Given the description of an element on the screen output the (x, y) to click on. 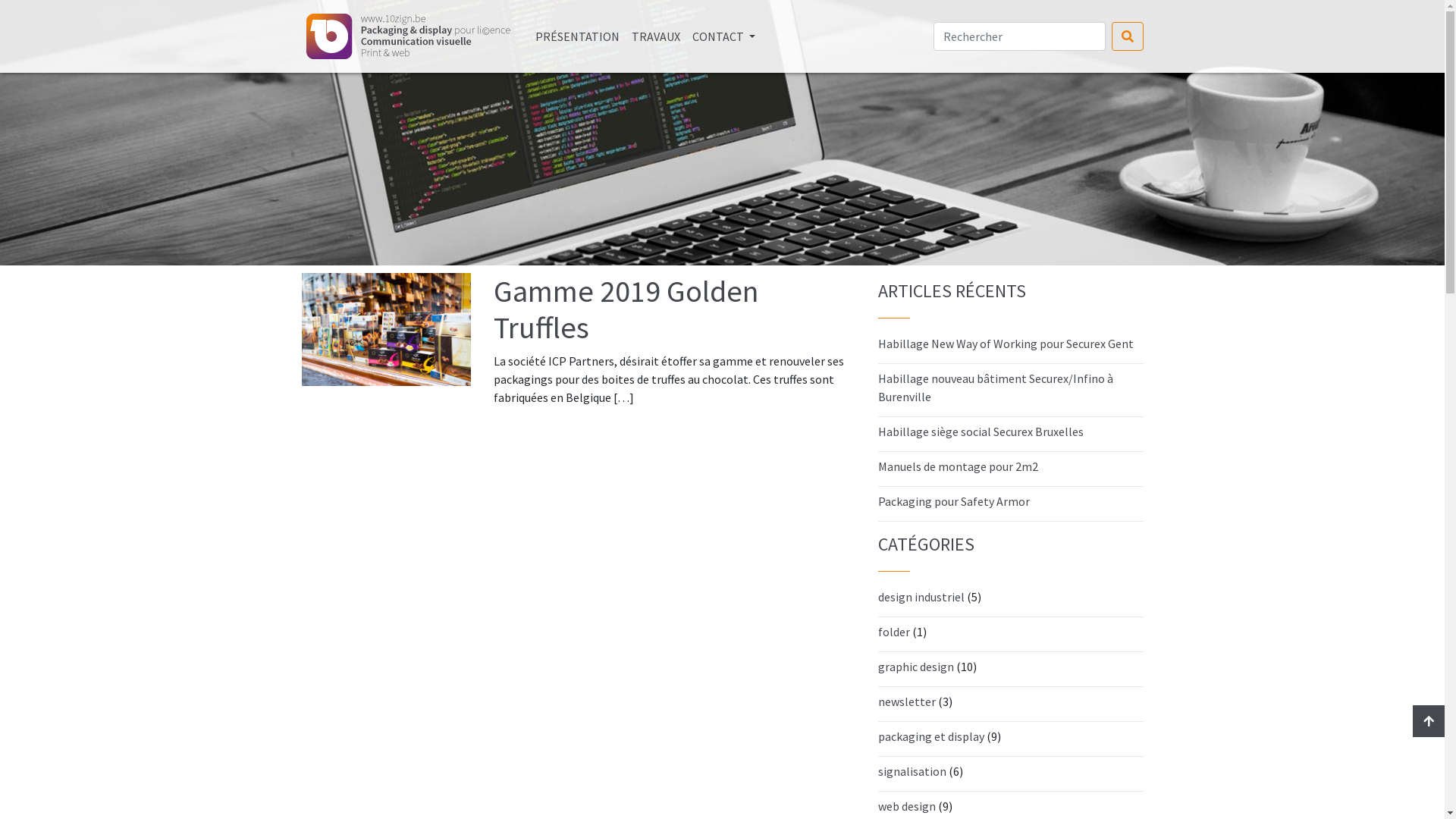
Habillage New Way of Working pour Securex Gent Element type: text (1005, 343)
web design Element type: text (906, 805)
CONTACT Element type: text (722, 36)
Gamme 2019 Golden Truffles Element type: text (674, 309)
Manuels de montage pour 2m2 Element type: text (958, 465)
newsletter Element type: text (906, 701)
packaging et display Element type: text (931, 735)
graphic design Element type: text (915, 666)
signalisation Element type: text (912, 770)
design industriel Element type: text (921, 596)
TRAVAUX Element type: text (654, 36)
folder Element type: text (894, 631)
Packaging pour Safety Armor Element type: text (953, 500)
